Given the description of an element on the screen output the (x, y) to click on. 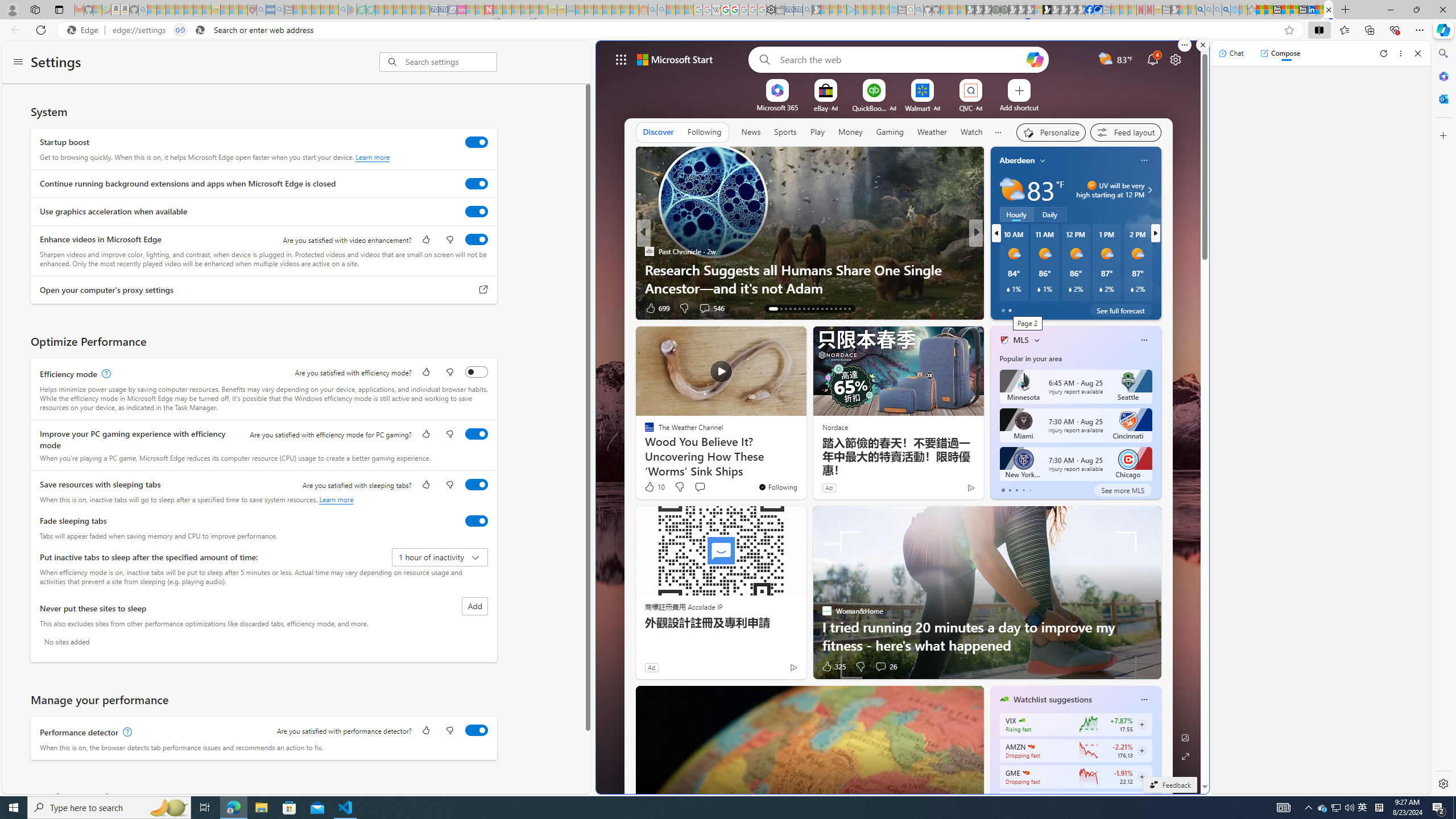
Enhance videos in Microsoft Edge (476, 238)
How to Turn Off Copilot in Windows 11 (1159, 287)
View comments 14 Comment (1051, 307)
Feed settings (1125, 132)
